Given the description of an element on the screen output the (x, y) to click on. 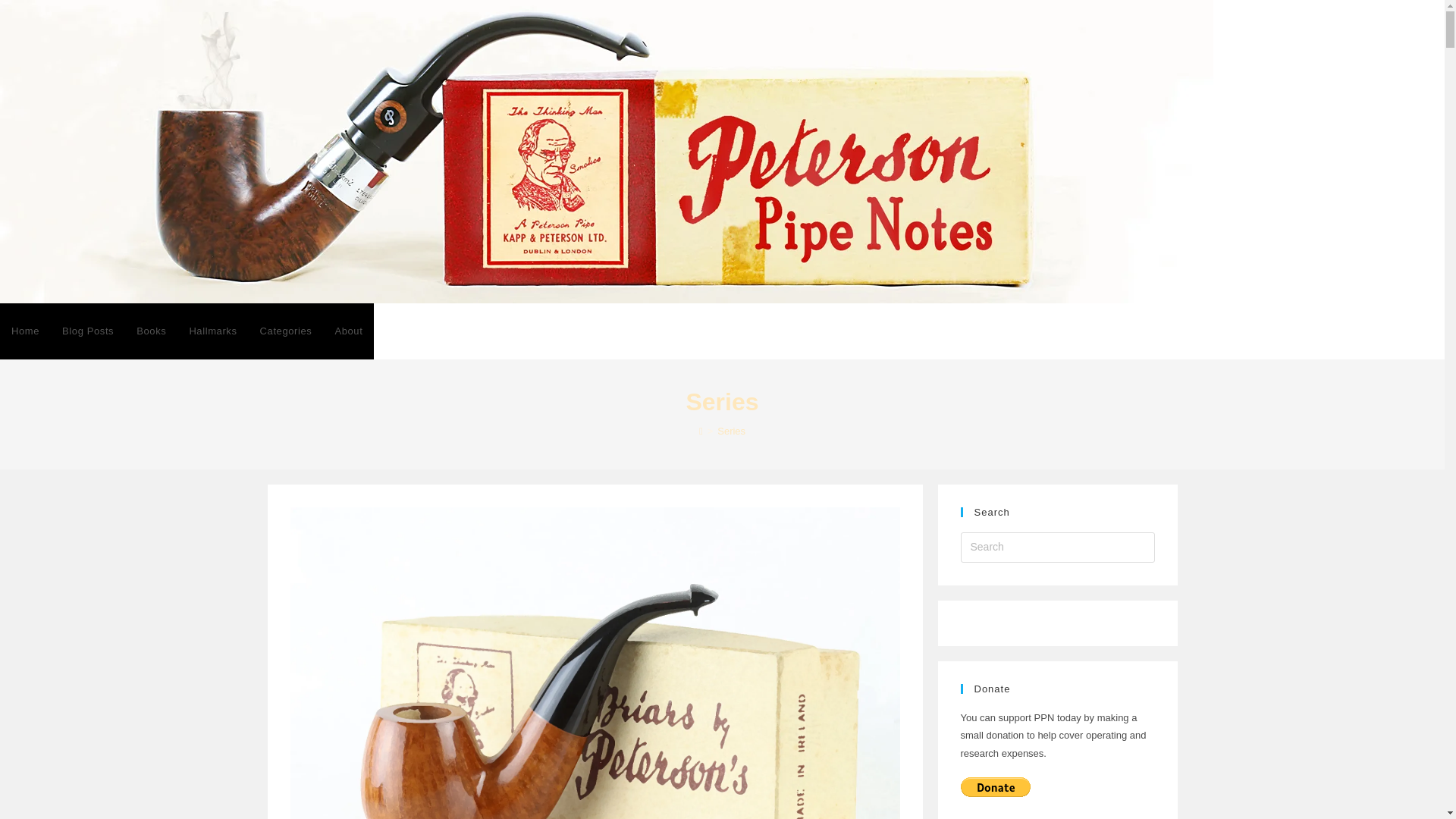
Blog Posts (87, 331)
Hallmarks (212, 331)
Categories (285, 331)
About (348, 331)
Home (25, 331)
Books (151, 331)
Series (731, 430)
